Given the description of an element on the screen output the (x, y) to click on. 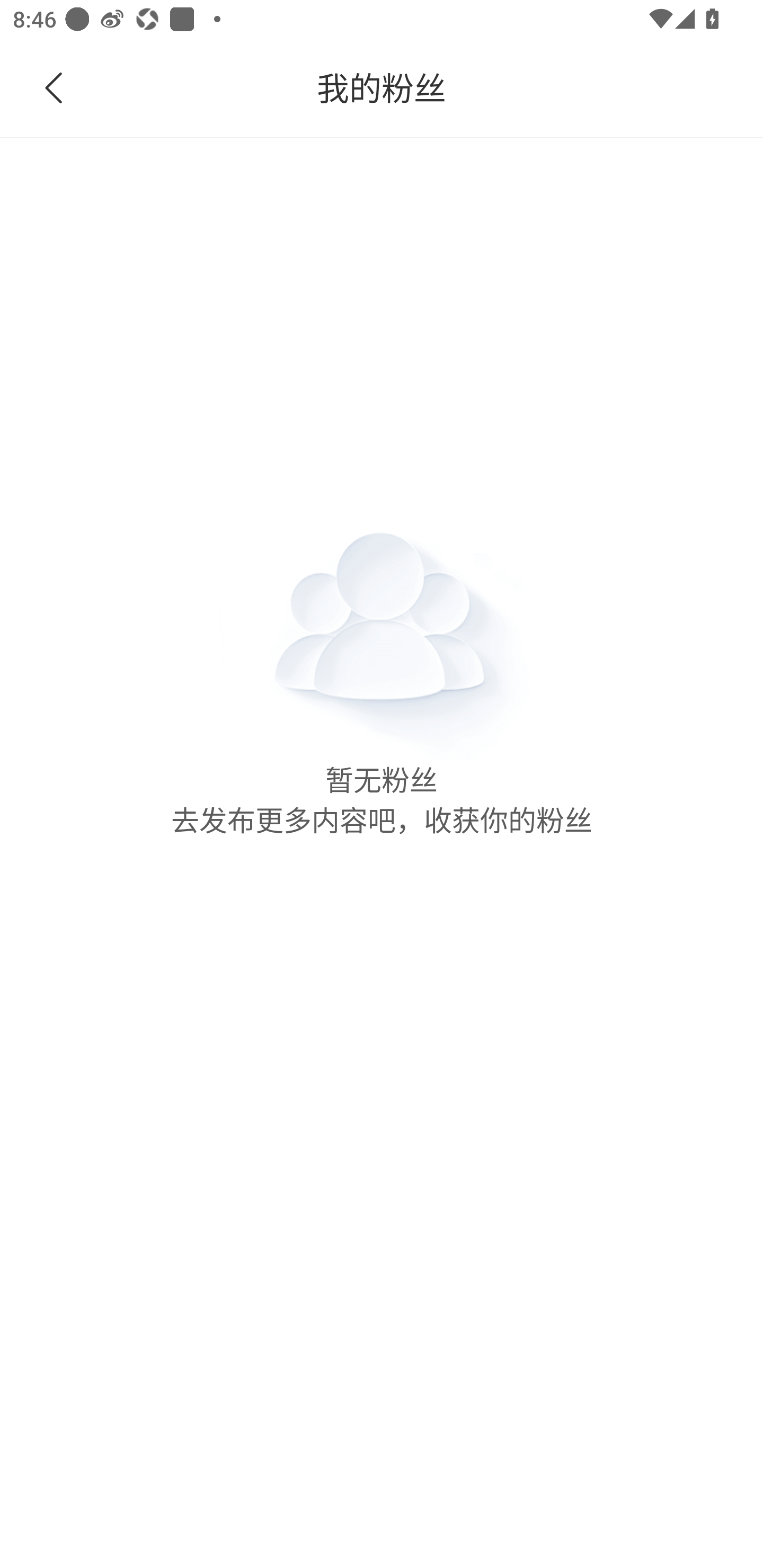
返回，可点击 (91, 87)
